Given the description of an element on the screen output the (x, y) to click on. 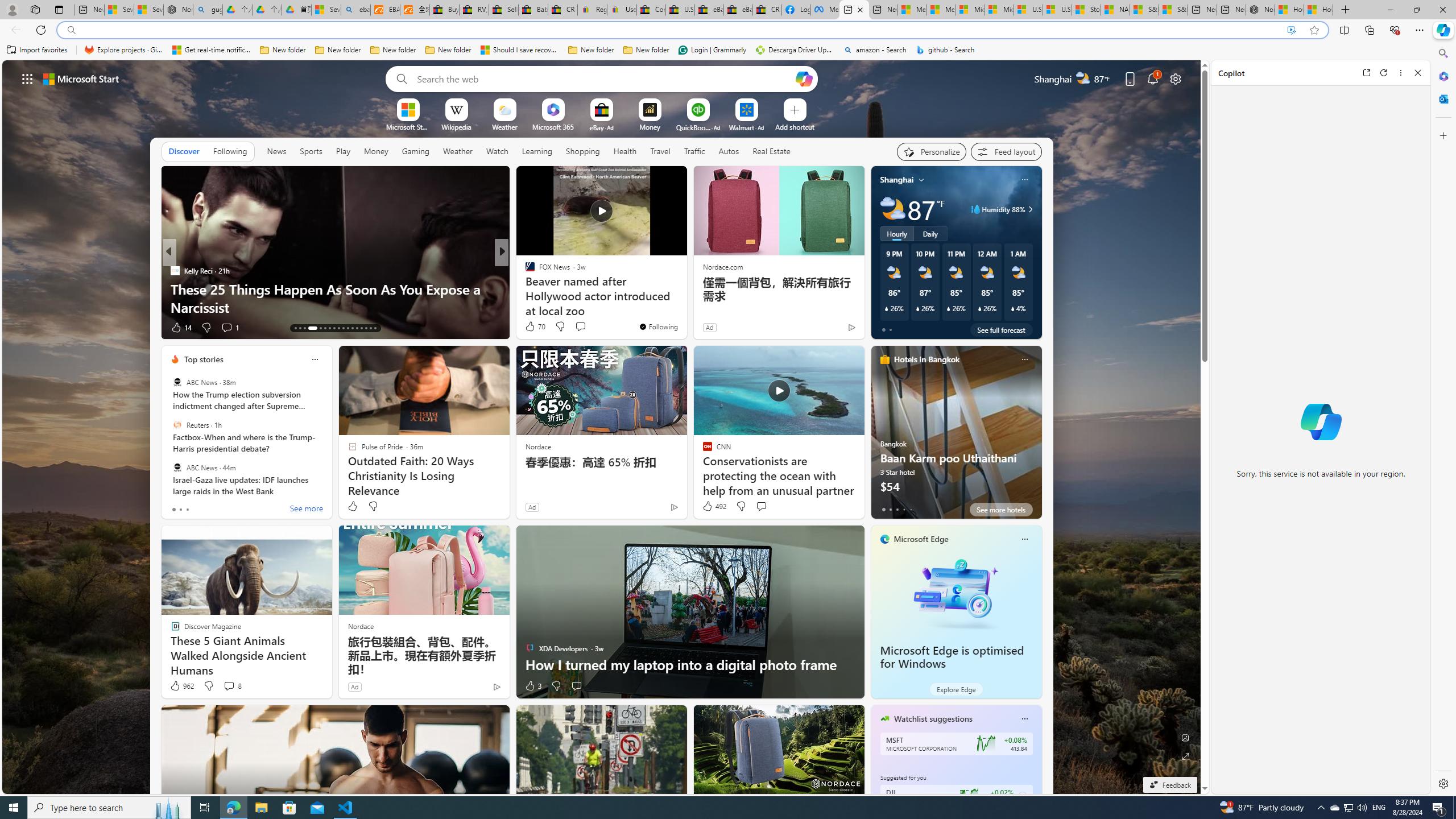
View comments 8 Comment (228, 685)
Hourly (896, 233)
AutomationID: tab-17 (320, 328)
Wikipedia (456, 126)
29 Like (530, 327)
Should I save recovered Word documents? - Microsoft Support (519, 49)
View comments 6 Comment (576, 327)
Personalize your feed" (931, 151)
